Given the description of an element on the screen output the (x, y) to click on. 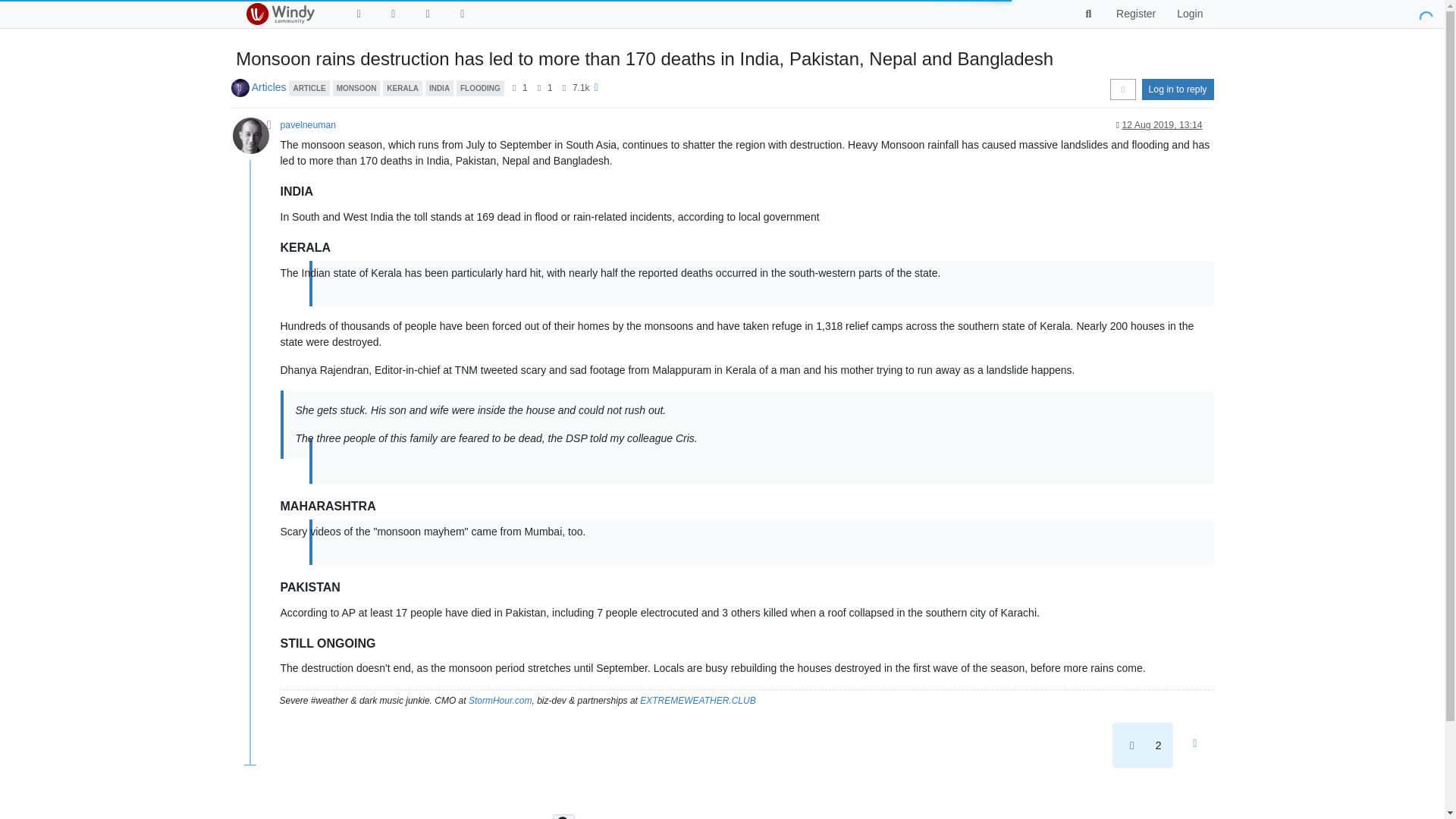
Categories (392, 13)
pavelneuman (308, 124)
FLOODING (480, 87)
MONSOON (356, 87)
Register (1135, 13)
Unread (357, 13)
Posters (513, 87)
Posts (539, 87)
Go to windy.com (462, 13)
ARTICLE (308, 87)
